Given the description of an element on the screen output the (x, y) to click on. 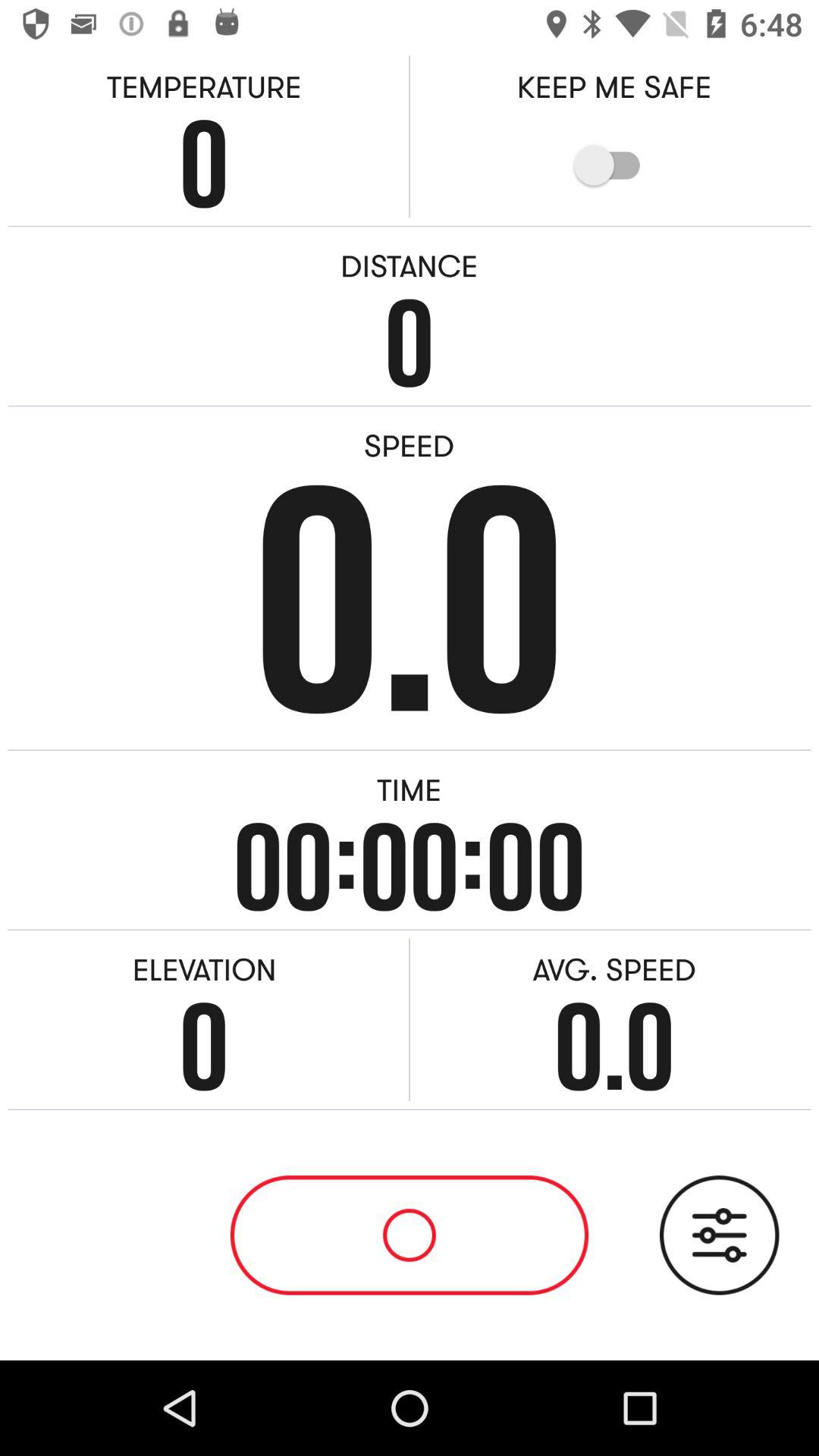
toggle start stop (409, 1235)
